Given the description of an element on the screen output the (x, y) to click on. 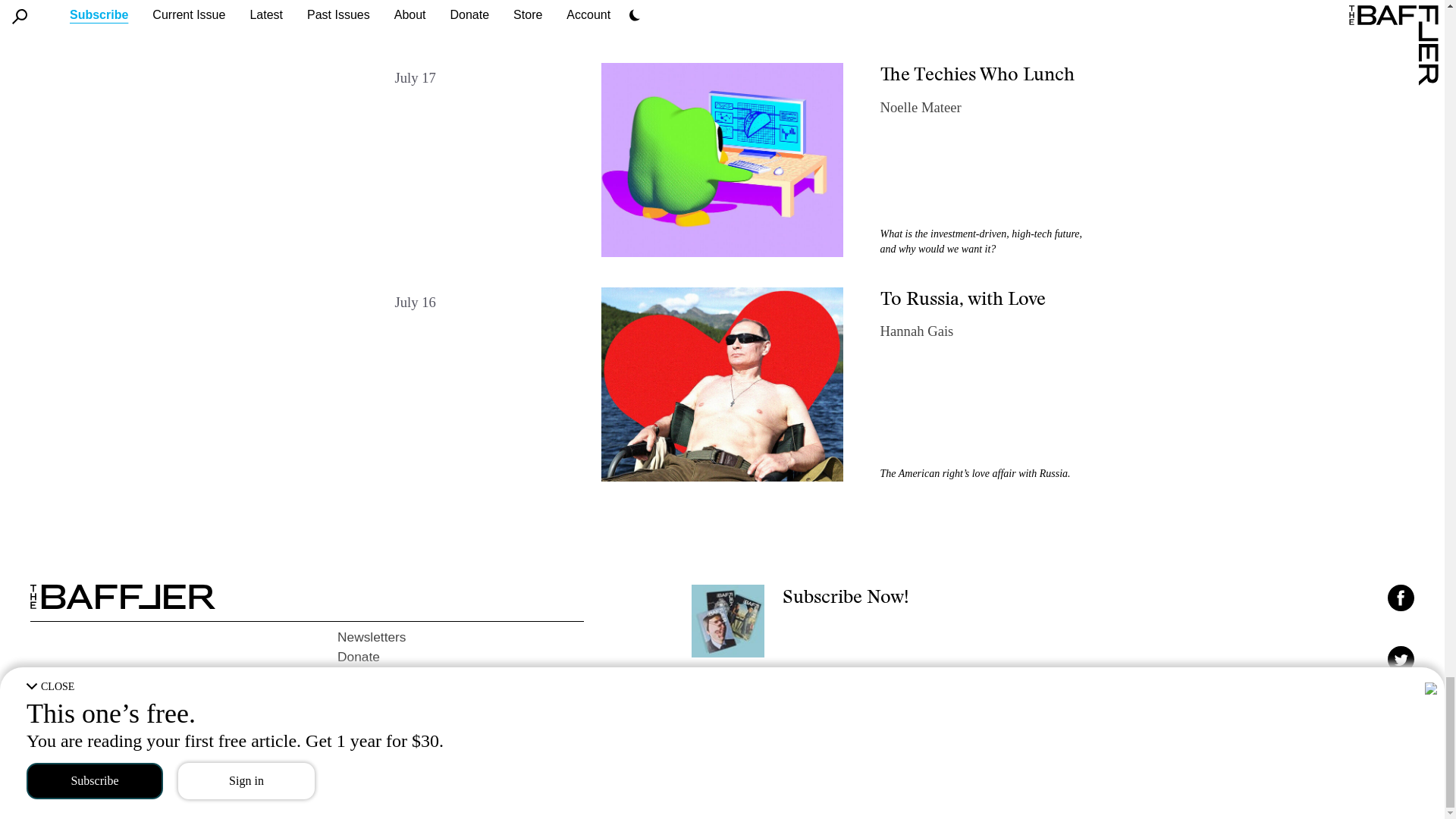
on (1395, 717)
